Given the description of an element on the screen output the (x, y) to click on. 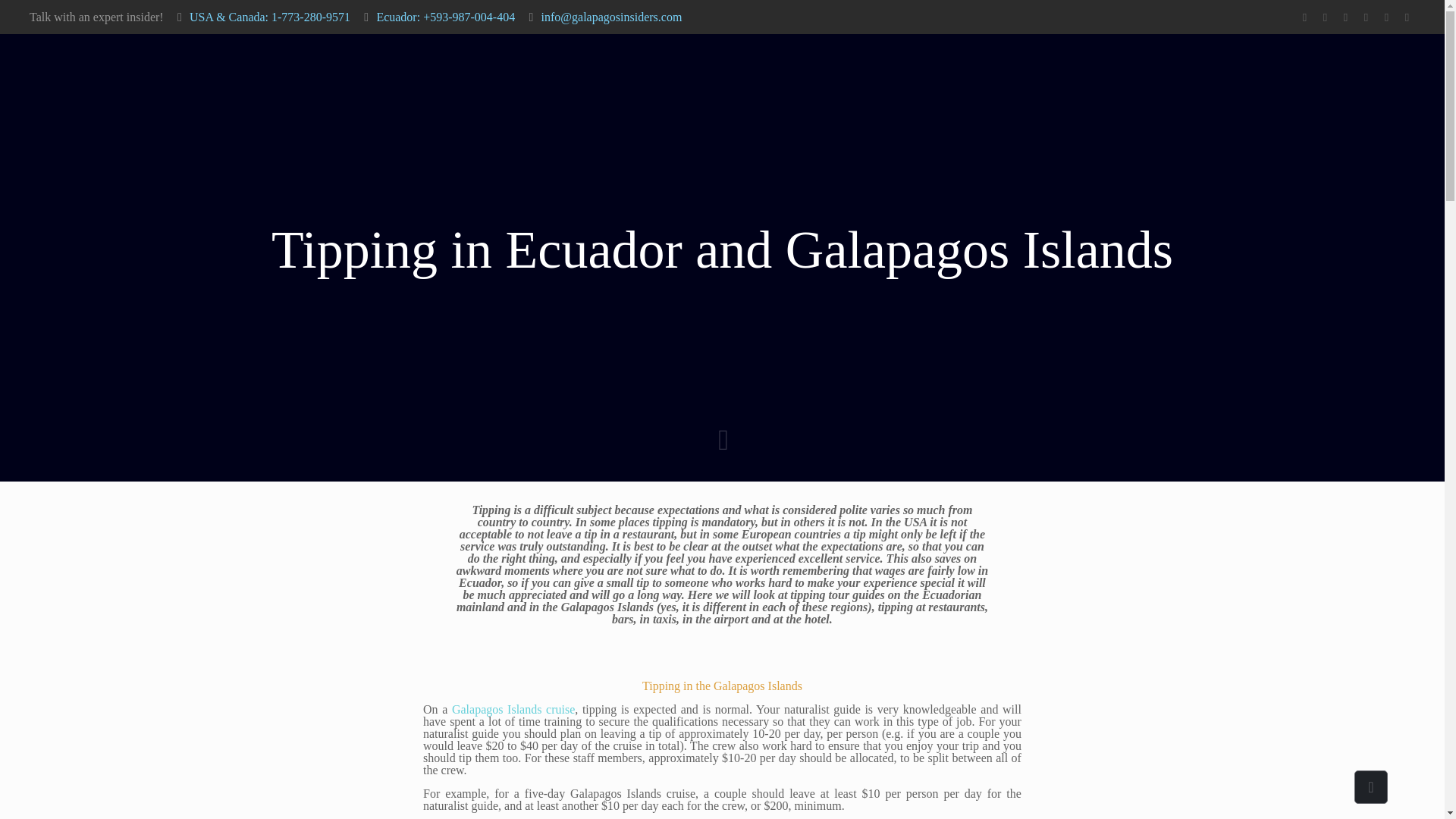
Pinterest (1366, 17)
Vimeo (1346, 17)
Facebook (1305, 17)
Instagram (1386, 17)
Twitter (1325, 17)
Tripadvisor (1407, 17)
